Given the description of an element on the screen output the (x, y) to click on. 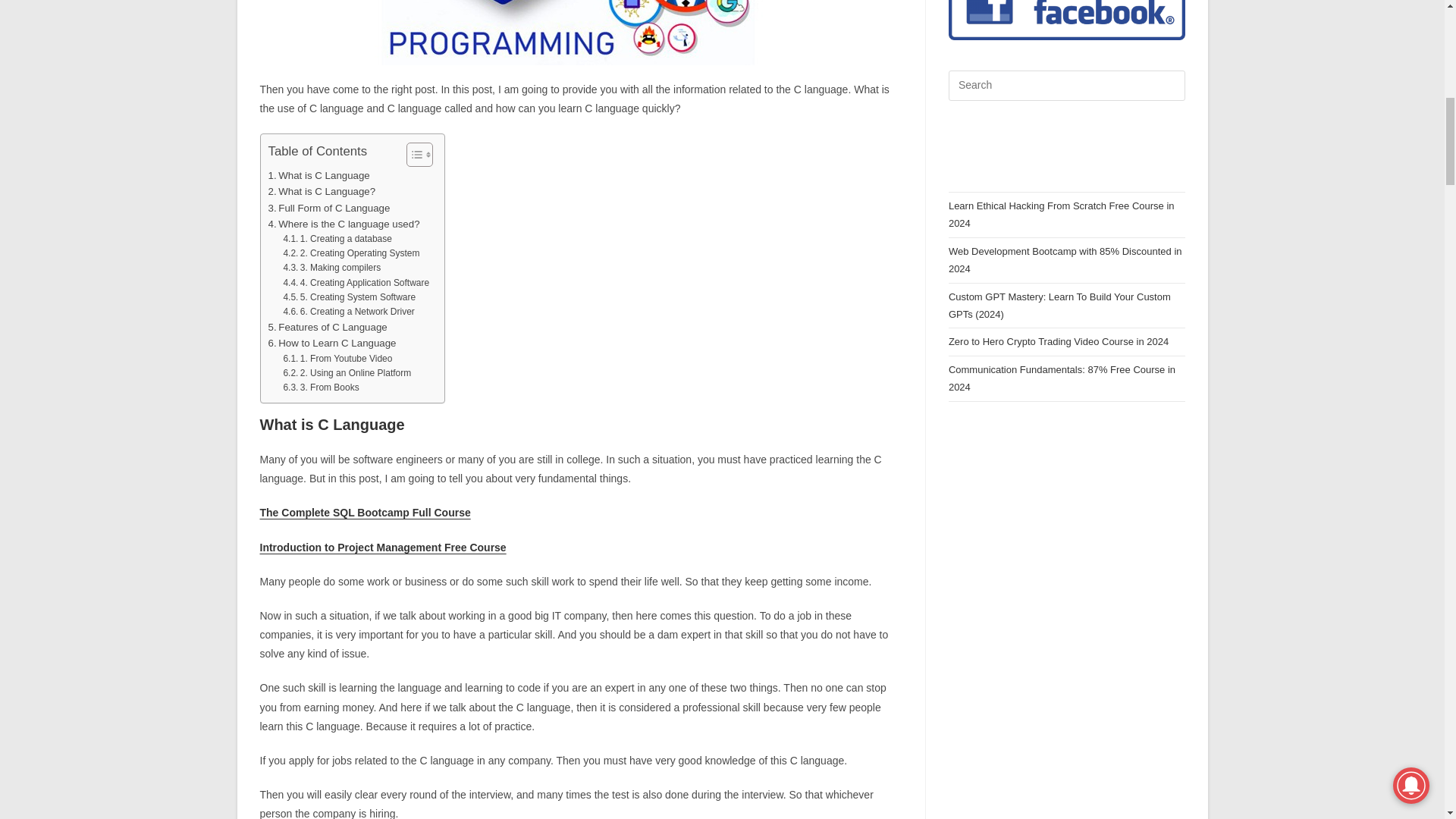
6. Creating a Network Driver (347, 311)
Where is the C language used? (343, 223)
What is C Language? (321, 191)
What is C Language? Uses, Features, Courses in 2024 (580, 32)
2. Creating Operating System (350, 253)
What is C Language (318, 175)
5. Creating System Software (348, 297)
4. Creating Application Software (355, 283)
1. Creating a database (336, 238)
Full Form of C Language (328, 207)
3. Making compilers (331, 268)
